Given the description of an element on the screen output the (x, y) to click on. 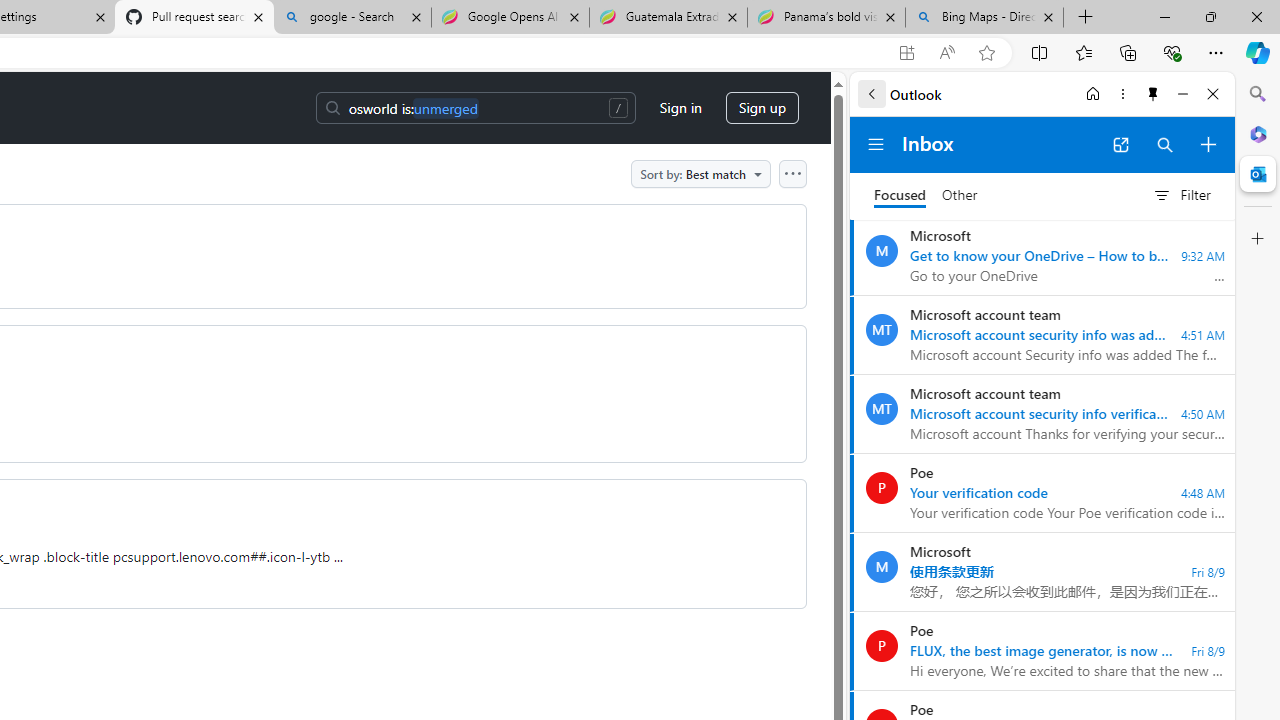
Focused (900, 195)
Open in new tab (1120, 144)
Sort by: Best match (700, 173)
